Given the description of an element on the screen output the (x, y) to click on. 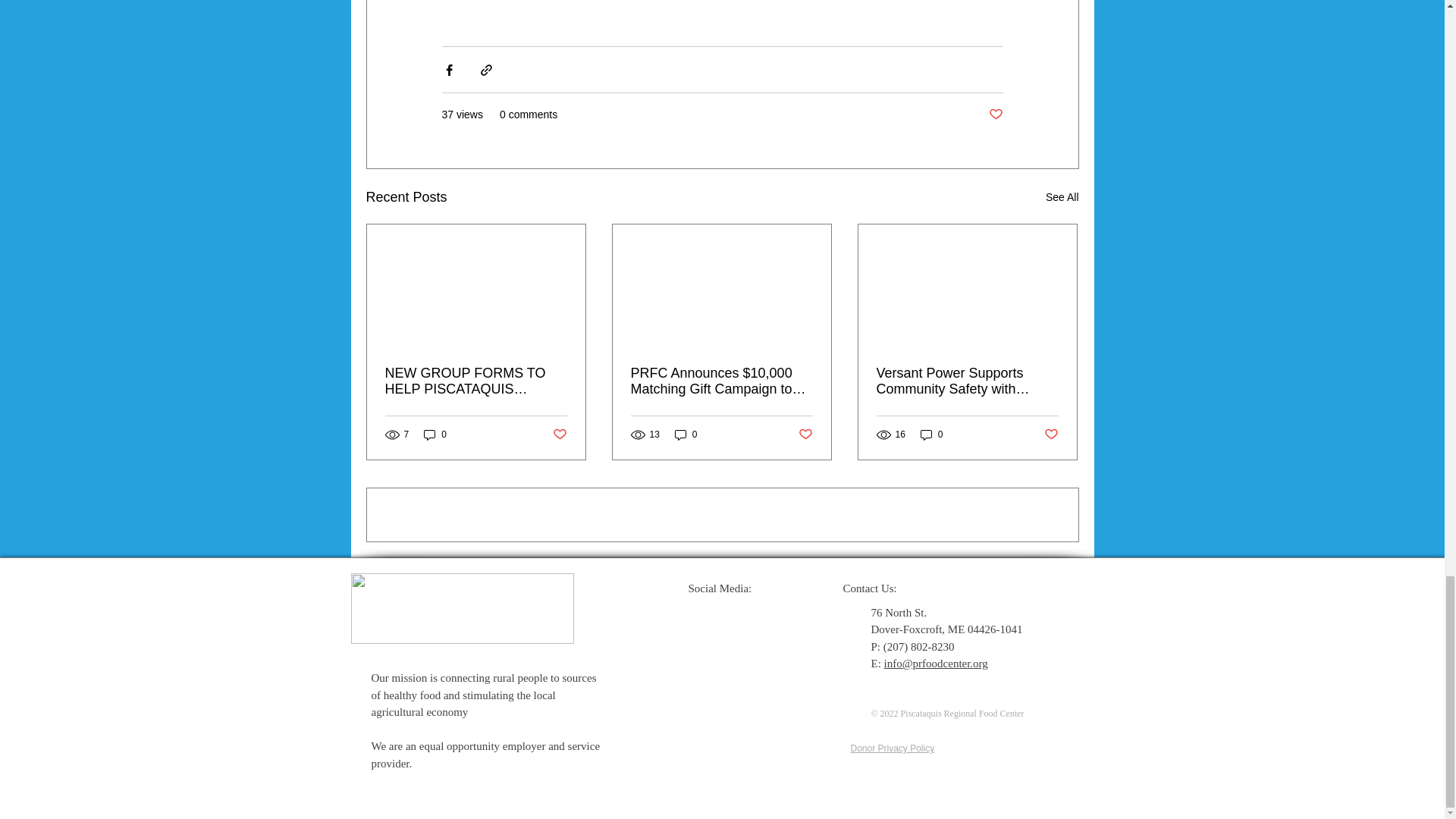
PRFC logo.png (461, 608)
